Given the description of an element on the screen output the (x, y) to click on. 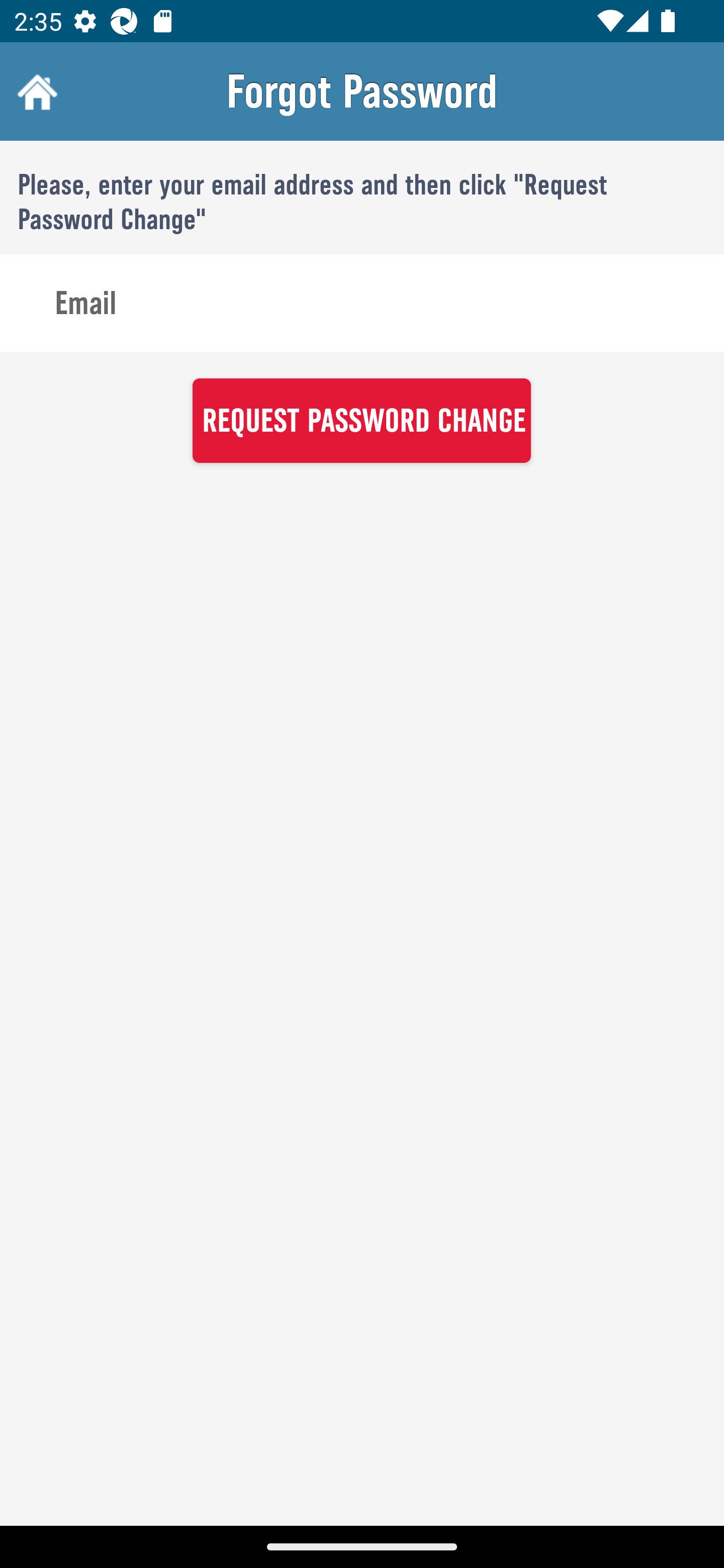
Home (35, 91)
Email (361, 303)
REQUEST PASSWORD CHANGE (361, 419)
